Given the description of an element on the screen output the (x, y) to click on. 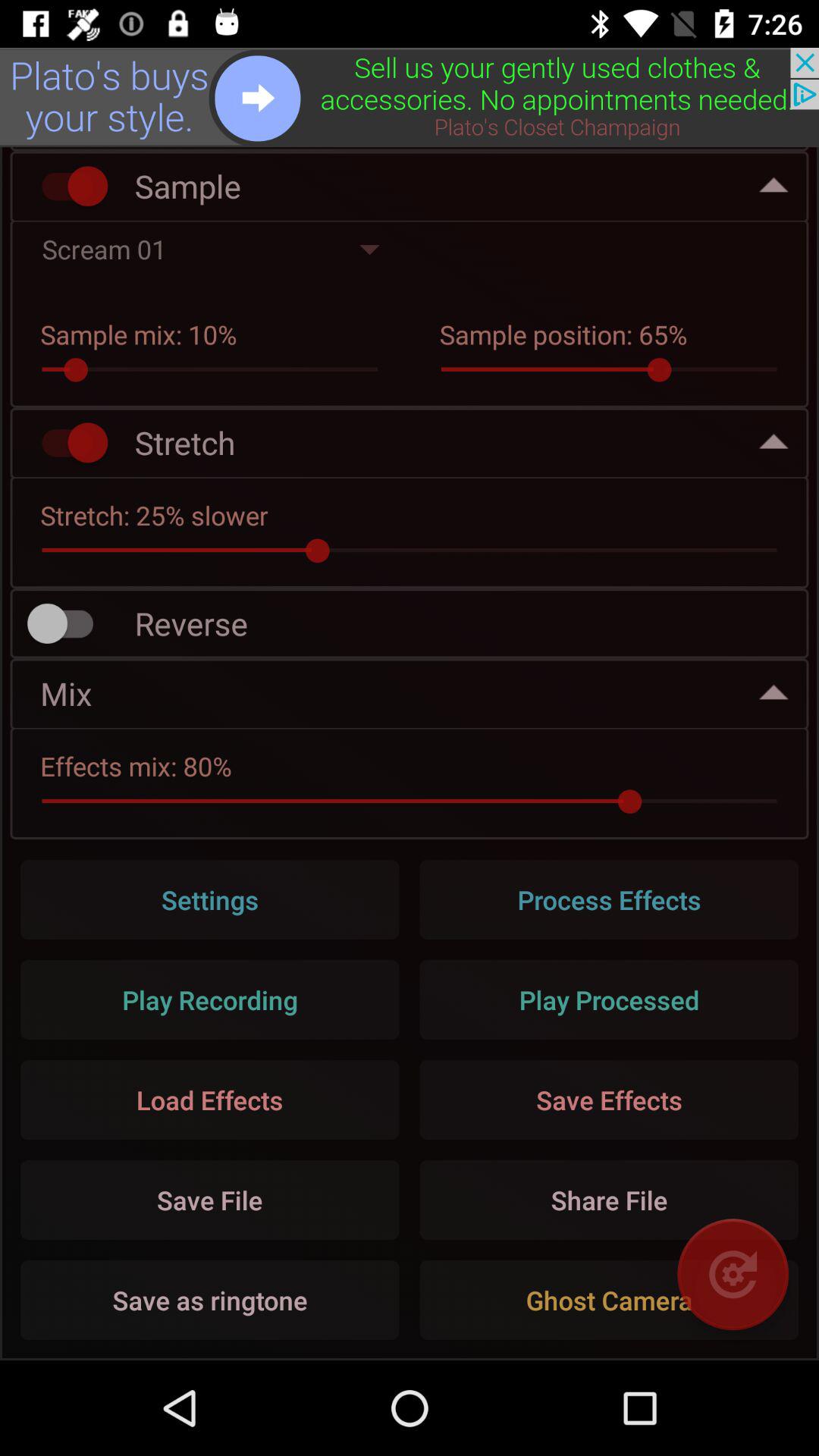
rotate (732, 1274)
